Given the description of an element on the screen output the (x, y) to click on. 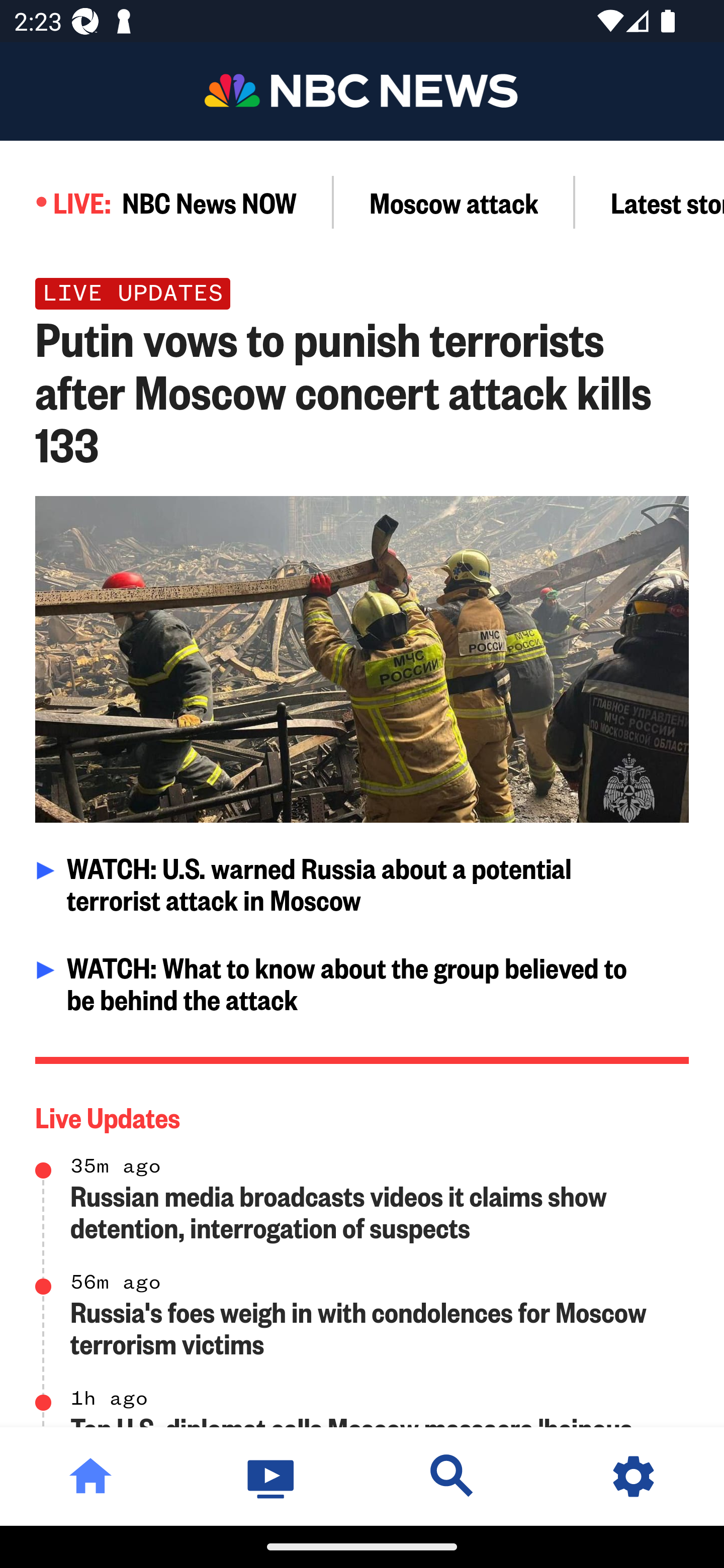
LIVE:  NBC News NOW (166, 202)
Moscow attack (453, 202)
Latest stories Section,Latest stories (649, 202)
Watch (271, 1475)
Discover (452, 1475)
Settings (633, 1475)
